Given the description of an element on the screen output the (x, y) to click on. 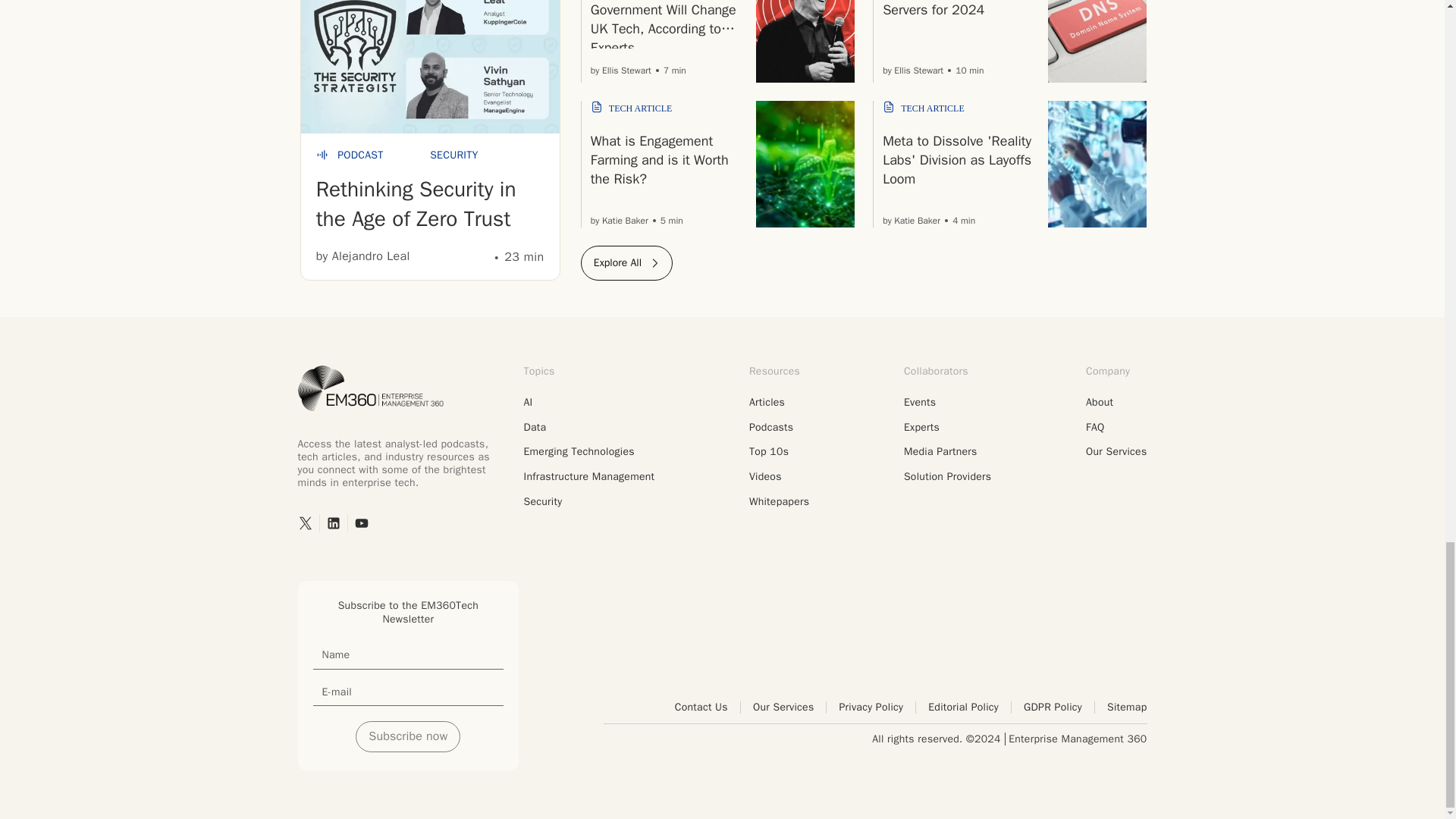
Subscribe now (407, 736)
GDPR Policy (1058, 707)
Sitemap (1126, 707)
Privacy Policy (876, 707)
